Given the description of an element on the screen output the (x, y) to click on. 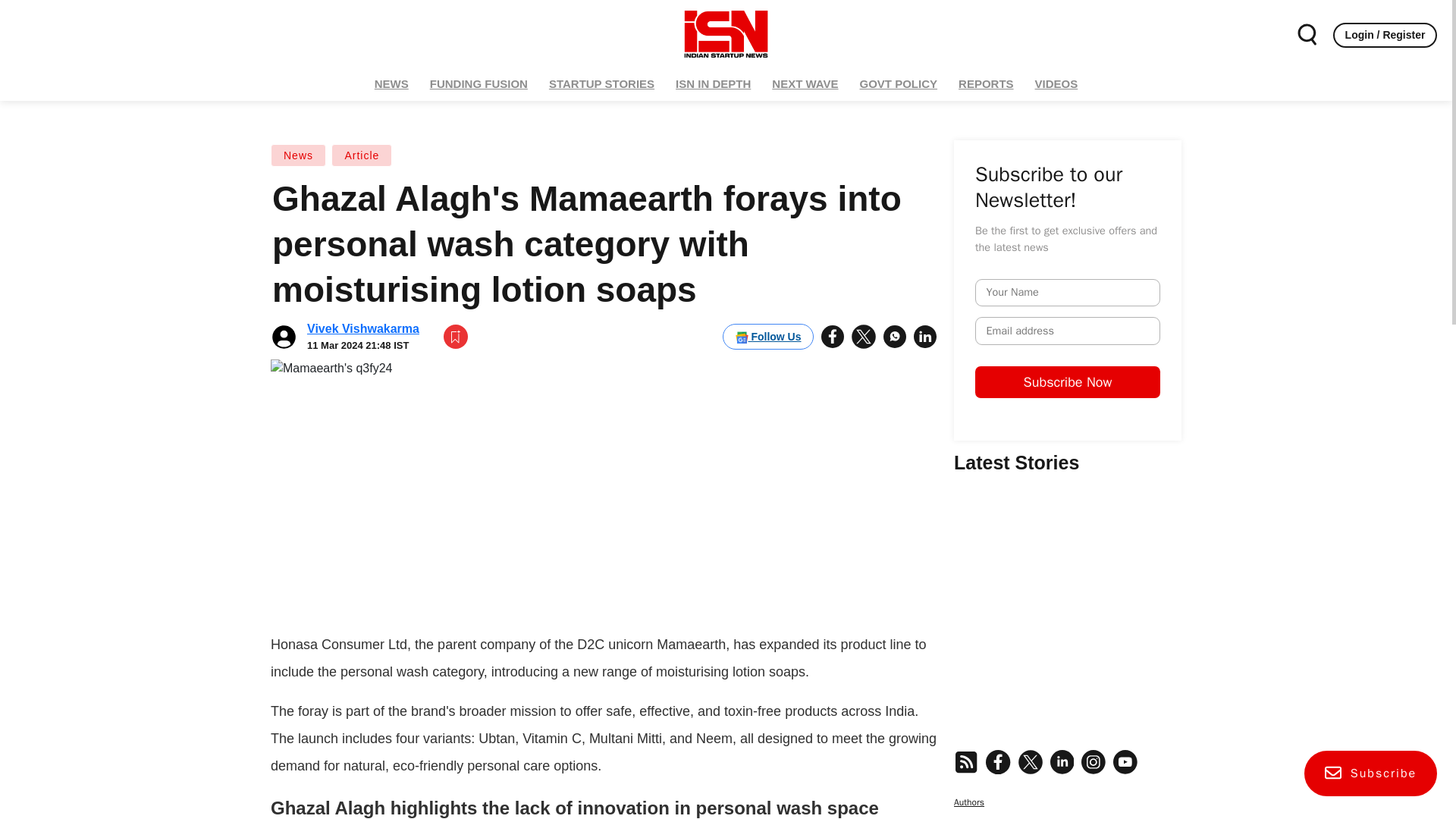
GOVT POLICY (898, 83)
Follow Us (767, 336)
Article (361, 155)
Subscribe Now (1185, 424)
FUNDING FUSION (478, 83)
STARTUP STORIES (601, 83)
Subscribe (1370, 773)
Authors (1066, 780)
VIDEOS (1056, 83)
NEXT WAVE (805, 83)
NEWS (391, 83)
REPORTS (986, 83)
ISN IN DEPTH (712, 83)
Vivek Vishwakarma (363, 328)
News (298, 155)
